Given the description of an element on the screen output the (x, y) to click on. 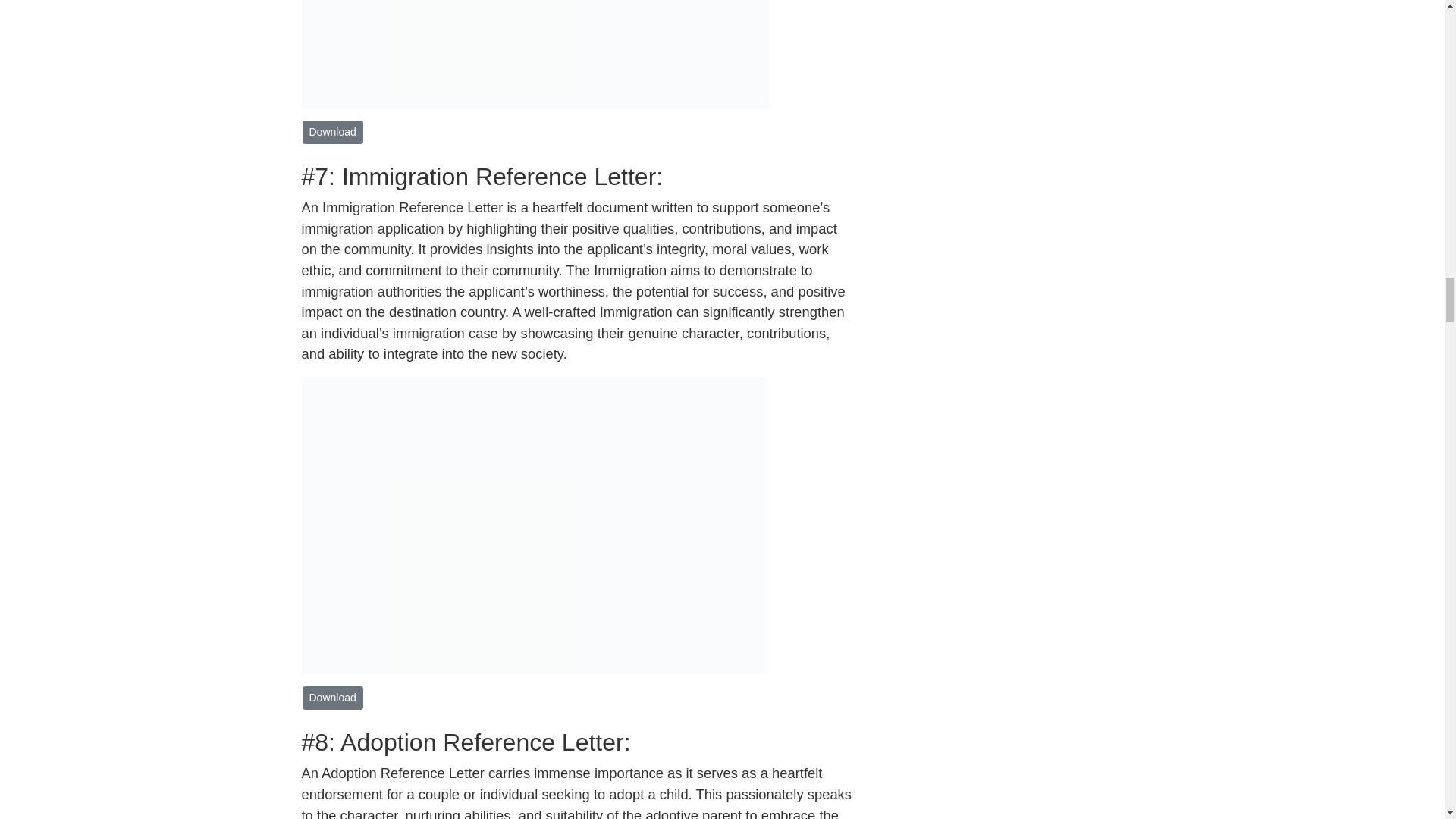
Download (331, 698)
Download (331, 132)
